Given the description of an element on the screen output the (x, y) to click on. 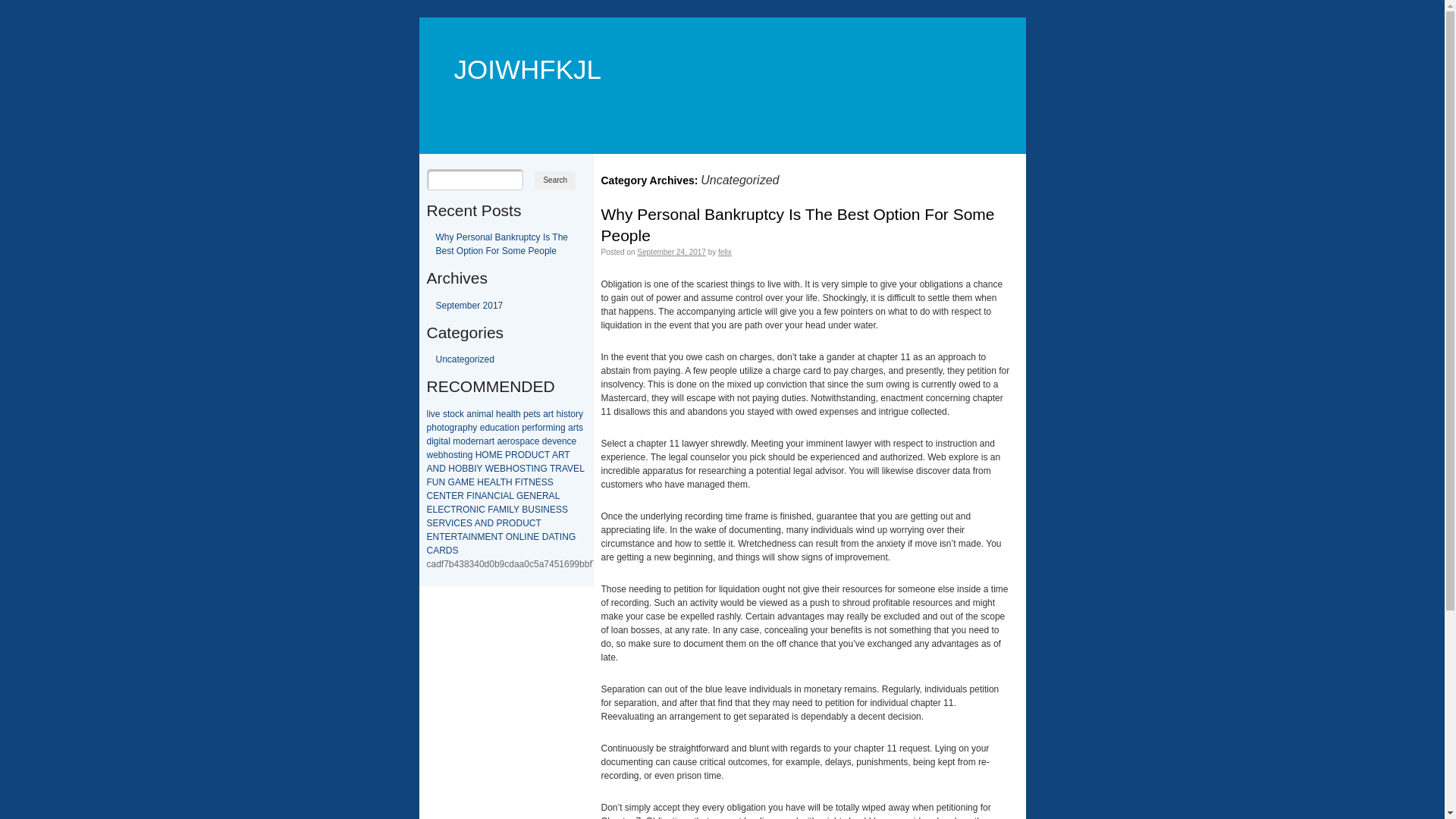
C Element type: text (456, 522)
e Element type: text (536, 441)
t Element type: text (552, 413)
r Element type: text (455, 427)
o Element type: text (452, 413)
H Element type: text (478, 454)
t Element type: text (441, 441)
I Element type: text (541, 509)
d Element type: text (486, 427)
S Element type: text (469, 522)
G Element type: text (451, 481)
I Element type: text (468, 536)
a Element type: text (502, 427)
T Element type: text (448, 495)
S Element type: text (550, 481)
A Element type: text (555, 454)
September 24, 2017 Element type: text (671, 251)
p Element type: text (525, 413)
t Element type: text (514, 413)
F Element type: text (517, 481)
e Element type: text (549, 441)
n Element type: text (473, 413)
R Element type: text (454, 536)
o Element type: text (439, 427)
p Element type: text (428, 427)
c Element type: text (569, 441)
a Element type: text (545, 413)
A Element type: text (436, 550)
e Element type: text (503, 413)
g Element type: text (436, 441)
k Element type: text (461, 413)
E Element type: text (487, 536)
T Element type: text (527, 468)
G Element type: text (519, 495)
B Element type: text (464, 468)
c Element type: text (532, 441)
Y Element type: text (479, 468)
E Element type: text (454, 495)
Y Element type: text (516, 509)
Uncategorized Element type: text (464, 359)
E Element type: text (526, 495)
h Element type: text (433, 427)
r Element type: text (549, 413)
d Element type: text (544, 441)
R Element type: text (458, 509)
I Element type: text (525, 536)
o Element type: text (446, 427)
I Element type: text (531, 468)
a Element type: text (499, 441)
c Element type: text (457, 413)
G Element type: text (542, 468)
C Element type: text (540, 454)
e Element type: text (558, 441)
r Element type: text (574, 427)
e Element type: text (529, 427)
R Element type: text (558, 468)
T Element type: text (552, 468)
d Element type: text (467, 441)
h Element type: text (558, 413)
h Element type: text (517, 413)
felix Element type: text (724, 251)
B Element type: text (524, 509)
E Element type: text (471, 481)
e Element type: text (473, 441)
T Element type: text (441, 536)
JOIWHFKJL Element type: text (518, 46)
S Element type: text (455, 550)
O Element type: text (520, 454)
I Element type: text (507, 509)
N Element type: text (515, 536)
R Element type: text (545, 495)
I Element type: text (560, 536)
n Element type: text (564, 441)
F Element type: text (468, 495)
i Element type: text (477, 413)
E Element type: text (499, 454)
a Element type: text (468, 413)
C Element type: text (429, 550)
Search Element type: text (554, 180)
Why Personal Bankruptcy Is The Best Option For Some People Element type: text (797, 224)
h Element type: text (470, 427)
A Element type: text (464, 536)
s Element type: text (455, 454)
O Element type: text (484, 454)
a Element type: text (488, 413)
t Element type: text (443, 427)
A Element type: text (495, 509)
September 2017 Element type: text (468, 305)
D Element type: text (545, 536)
N Element type: text (483, 522)
C Element type: text (481, 509)
T Element type: text (452, 509)
m Element type: text (456, 441)
E Element type: text (552, 509)
e Element type: text (435, 454)
T Element type: text (537, 522)
E Element type: text (486, 481)
L Element type: text (557, 495)
i Element type: text (562, 413)
N Element type: text (536, 468)
I Element type: text (501, 495)
i Element type: text (461, 454)
P Element type: text (508, 454)
T Element type: text (525, 481)
M Element type: text (492, 454)
r Element type: text (576, 413)
S Element type: text (537, 509)
v Element type: text (554, 441)
p Element type: text (464, 427)
N Element type: text (494, 536)
D Element type: text (489, 522)
t Element type: text (459, 454)
s Element type: text (565, 413)
L Element type: text (510, 495)
d Element type: text (428, 441)
L Element type: text (435, 509)
E Element type: text (436, 495)
N Element type: text (442, 495)
U Element type: text (530, 509)
I Element type: text (521, 481)
I Element type: text (452, 522)
r Element type: text (508, 441)
D Element type: text (442, 468)
H Element type: text (479, 481)
H Element type: text (451, 468)
E Element type: text (429, 509)
n Element type: text (516, 427)
l Element type: text (427, 413)
i Element type: text (432, 441)
o Element type: text (539, 427)
E Element type: text (539, 495)
W Element type: text (489, 468)
S Element type: text (564, 509)
m Element type: text (549, 427)
R Element type: text (442, 550)
E Element type: text (436, 522)
N Element type: text (532, 495)
o Element type: text (462, 441)
A Element type: text (550, 536)
C Element type: text (496, 495)
U Element type: text (534, 454)
i Element type: text (440, 441)
n Element type: text (464, 454)
E Element type: text (440, 509)
A Element type: text (552, 495)
v Element type: text (432, 413)
t Element type: text (568, 413)
A Element type: text (484, 495)
g Element type: text (562, 427)
a Element type: text (445, 441)
T Element type: text (556, 536)
A Element type: text (505, 495)
I Element type: text (474, 468)
T Element type: text (499, 536)
a Element type: text (508, 413)
t Element type: text (505, 427)
H Element type: text (508, 481)
T Element type: text (566, 454)
C Element type: text (446, 509)
S Element type: text (522, 468)
S Element type: text (558, 509)
E Element type: text (463, 522)
m Element type: text (482, 413)
t Element type: text (577, 427)
B Element type: text (470, 468)
U Element type: text (525, 522)
D Element type: text (448, 550)
N Element type: text (472, 509)
g Element type: text (452, 427)
R Element type: text (442, 522)
O Element type: text (508, 536)
A Element type: text (429, 468)
p Element type: text (521, 441)
N Element type: text (530, 536)
e Element type: text (482, 427)
t Element type: text (534, 413)
a Element type: text (570, 427)
F Element type: text (489, 509)
C Element type: text (532, 522)
R Element type: text (514, 454)
r Element type: text (490, 441)
A Element type: text (564, 468)
R Element type: text (460, 495)
w Element type: text (429, 454)
o Element type: text (572, 413)
I Element type: text (473, 495)
E Element type: text (536, 536)
N Element type: text (531, 481)
n Element type: text (557, 427)
e Element type: text (437, 413)
Why Personal Bankruptcy Is The Best Option For Some People Element type: text (501, 244)
V Element type: text (448, 522)
n Element type: text (480, 441)
o Element type: text (512, 441)
t Element type: text (448, 413)
N Element type: text (442, 481)
R Element type: text (505, 522)
p Element type: text (524, 427)
E Element type: text (538, 481)
C Element type: text (429, 495)
H Element type: text (508, 468)
h Element type: text (445, 454)
D Element type: text (518, 522)
A Element type: text (492, 481)
R Element type: text (561, 454)
c Element type: text (497, 427)
L Element type: text (521, 536)
O Element type: text (511, 522)
N Element type: text (473, 536)
s Element type: text (516, 441)
V Element type: text (570, 468)
i Element type: text (429, 413)
h Element type: text (498, 413)
o Element type: text (450, 454)
F Element type: text (428, 481)
E Element type: text (496, 468)
i Element type: text (554, 427)
s Element type: text (580, 427)
e Element type: text (504, 441)
f Element type: text (536, 427)
t Element type: text (493, 441)
s Element type: text (444, 413)
y Element type: text (474, 427)
s Element type: text (538, 413)
a Element type: text (486, 441)
G Element type: text (571, 536)
l Element type: text (492, 413)
L Element type: text (510, 509)
L Element type: text (581, 468)
E Element type: text (448, 536)
a Element type: text (527, 441)
e Element type: text (530, 413)
N Element type: text (436, 536)
T Element type: text (546, 454)
O Element type: text (458, 468)
O Element type: text (515, 468)
T Element type: text (502, 481)
E Element type: text (576, 468)
y Element type: text (580, 413)
N Element type: text (564, 536)
N Element type: text (477, 495)
O Element type: text (465, 509)
E Element type: text (429, 536)
e Element type: text (574, 441)
T Element type: text (459, 536)
r Element type: text (476, 441)
o Element type: text (511, 427)
S Element type: text (544, 481)
L Element type: text (497, 481)
S Element type: text (429, 522)
B Element type: text (502, 468)
r Element type: text (533, 427)
i Element type: text (508, 427)
M Element type: text (502, 509)
A Element type: text (477, 522)
P Element type: text (498, 522)
I Element type: text (477, 509)
l Element type: text (449, 441)
D Element type: text (527, 454)
N Element type: text (436, 468)
N Element type: text (545, 509)
a Element type: text (459, 427)
b Element type: text (440, 454)
g Element type: text (470, 454)
M Element type: text (480, 536)
u Element type: text (492, 427)
U Element type: text (435, 481)
r Element type: text (544, 427)
l Element type: text (512, 413)
N Element type: text (490, 495)
M Element type: text (464, 481)
A Element type: text (458, 481)
